Given the description of an element on the screen output the (x, y) to click on. 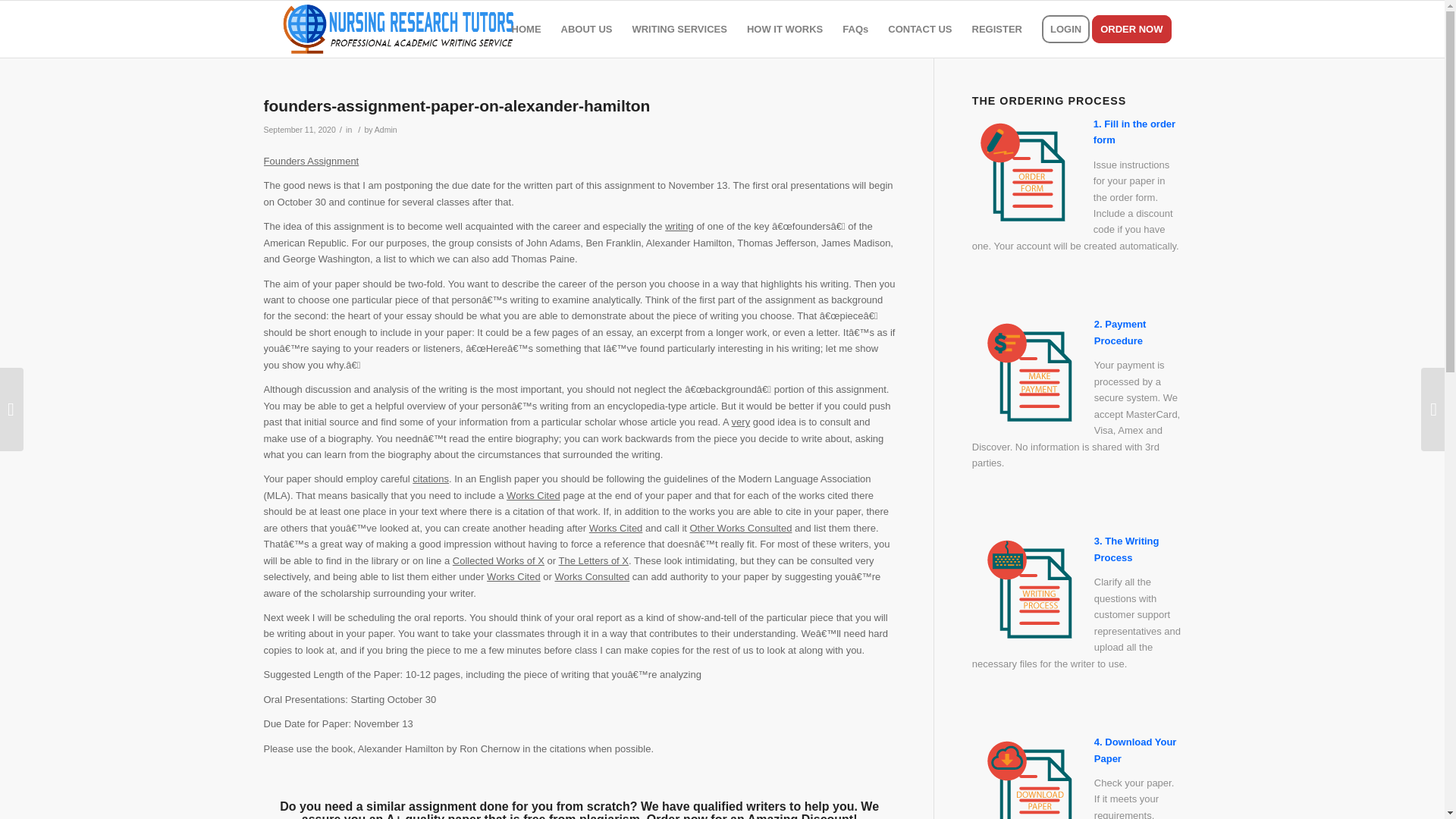
LOGIN (1065, 28)
HOME (526, 28)
Admin (385, 129)
FAQs (854, 28)
ORDER NOW (1136, 28)
HOW IT WORKS (784, 28)
Posts by Admin (385, 129)
ABOUT US (587, 28)
CONTACT US (918, 28)
founders-assignment-paper-on-alexander-hamilton (456, 105)
REGISTER (997, 28)
WRITING SERVICES (678, 28)
